Given the description of an element on the screen output the (x, y) to click on. 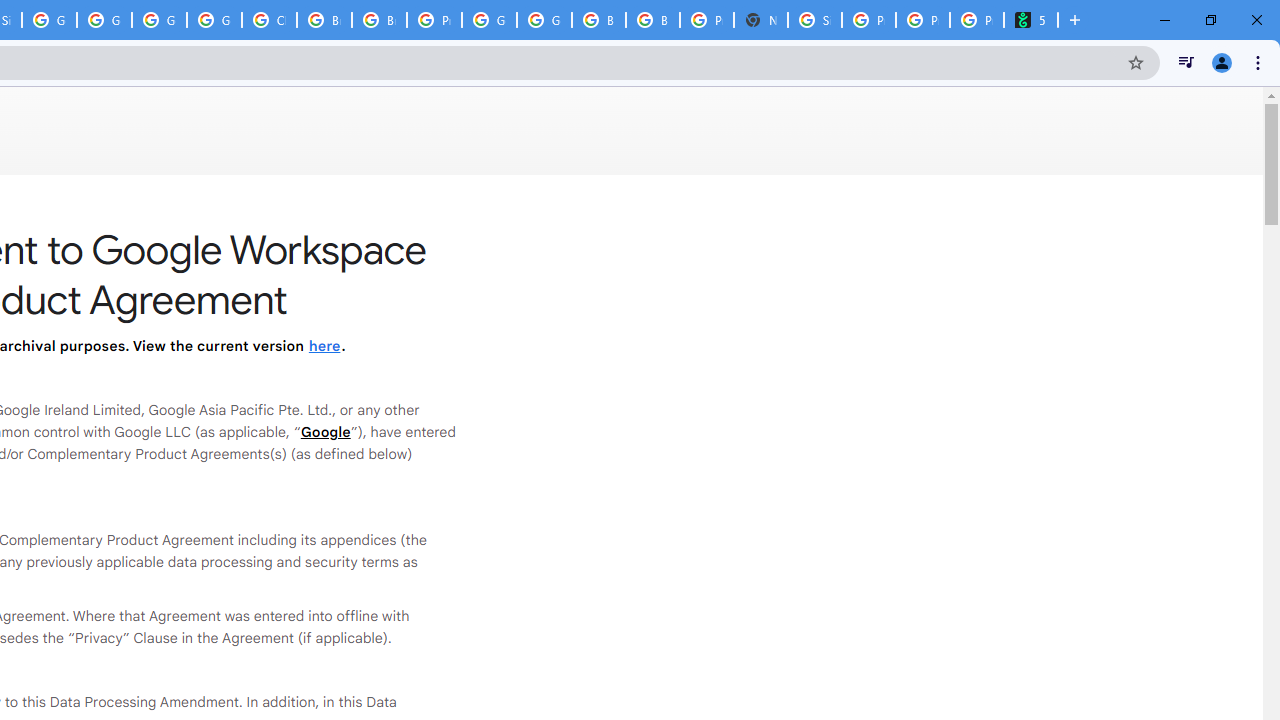
Sign in - Google Accounts (815, 20)
Browse Chrome as a guest - Computer - Google Chrome Help (324, 20)
Browse Chrome as a guest - Computer - Google Chrome Help (379, 20)
New Tab (760, 20)
Control your music, videos, and more (1185, 62)
